Given the description of an element on the screen output the (x, y) to click on. 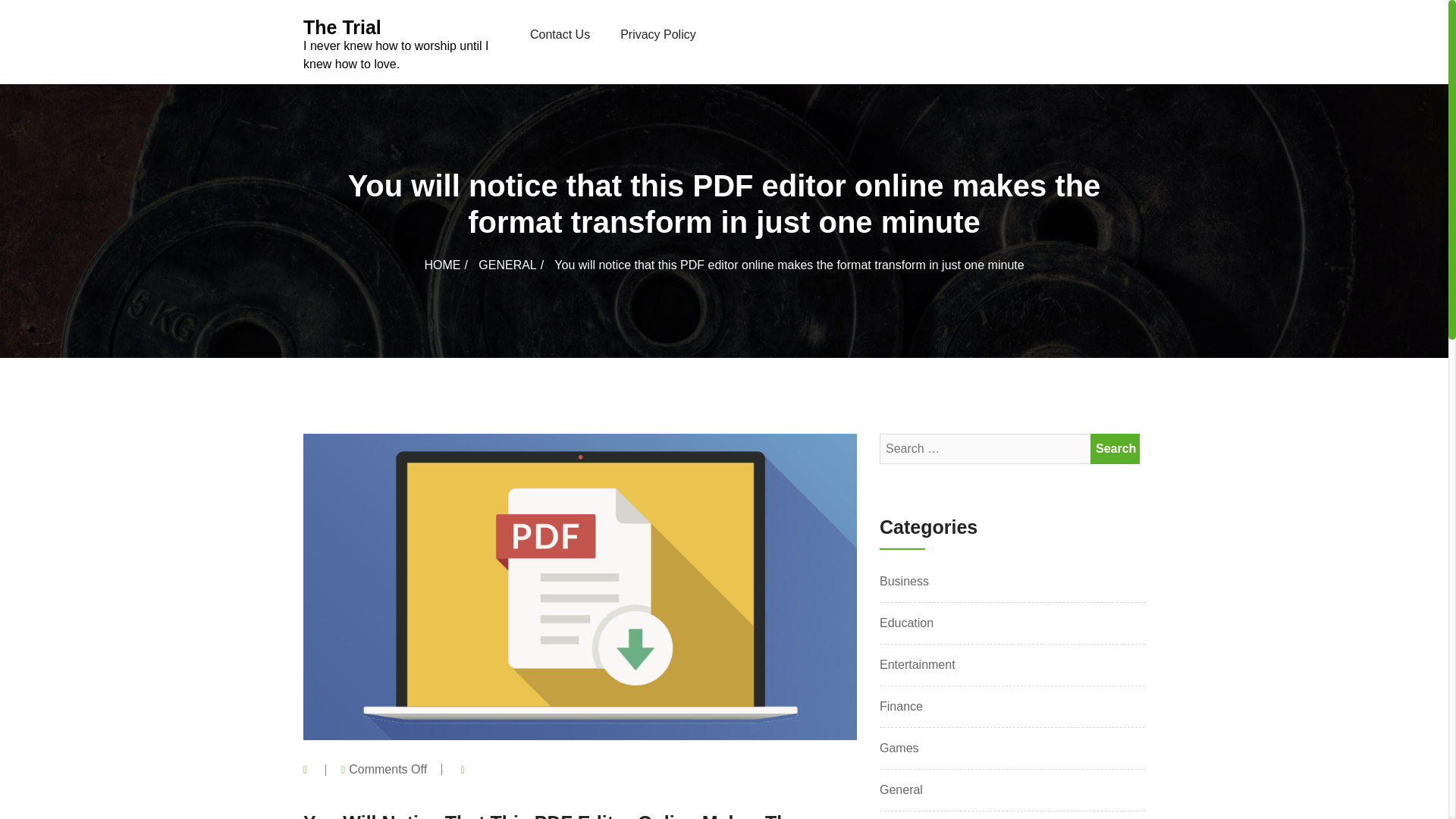
Business (903, 581)
General (901, 790)
Games (898, 748)
Search (1115, 449)
Education (906, 623)
Finance (901, 706)
Privacy Policy (658, 34)
GENERAL (515, 264)
Search (1115, 449)
Contact Us (559, 34)
Search (1115, 449)
Entertainment (917, 665)
HOME (448, 264)
